Given the description of an element on the screen output the (x, y) to click on. 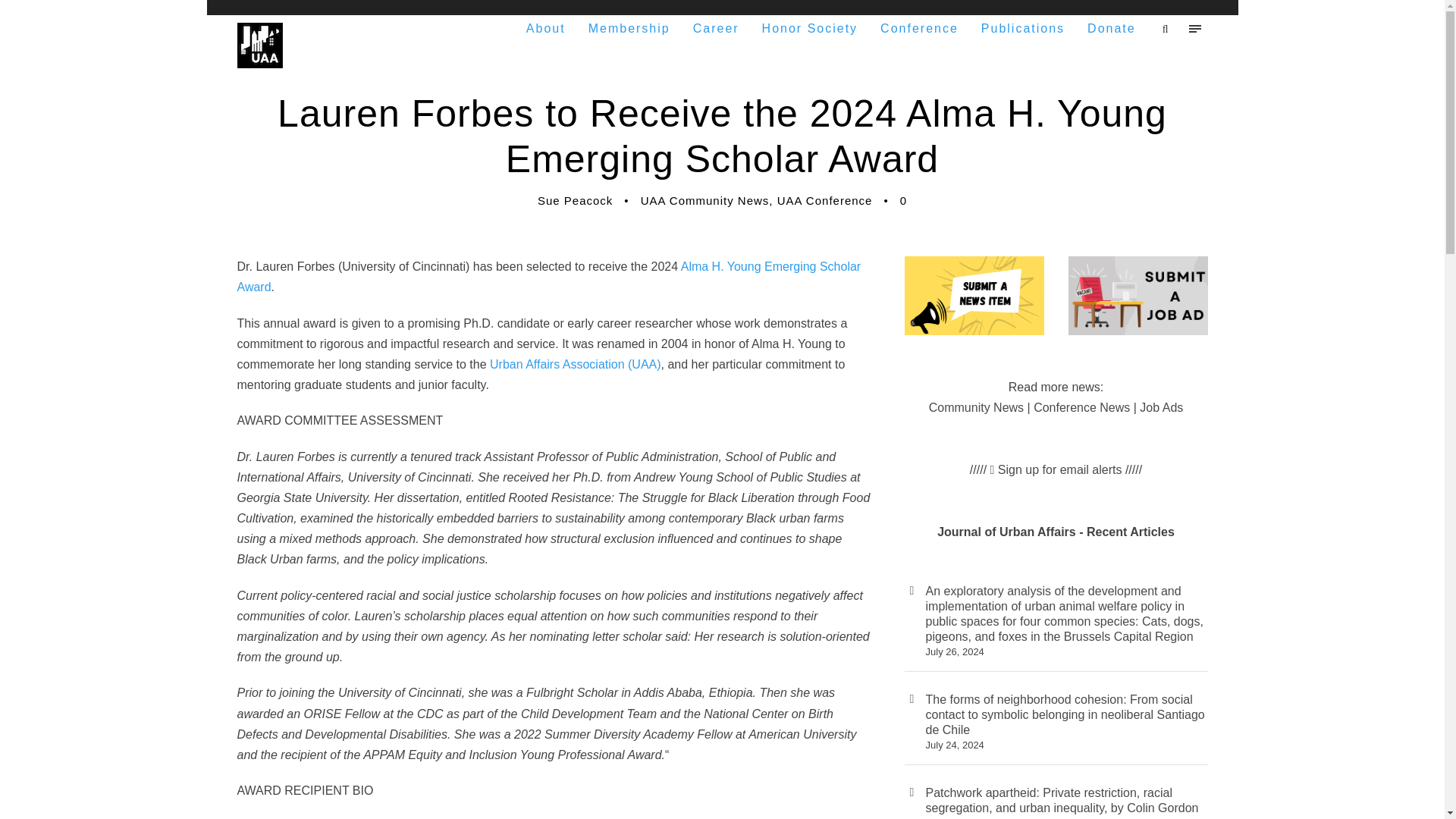
Conference (919, 28)
Membership (628, 28)
Career (716, 28)
Posts by Sue Peacock (574, 200)
Donate (1111, 28)
UAA Conference (824, 200)
UAA Community News (705, 200)
Sue Peacock (574, 200)
About (545, 28)
Publications (1022, 28)
Alma H. Young Emerging Scholar Award (547, 276)
UAA logo (258, 44)
Honor Society (810, 28)
